Given the description of an element on the screen output the (x, y) to click on. 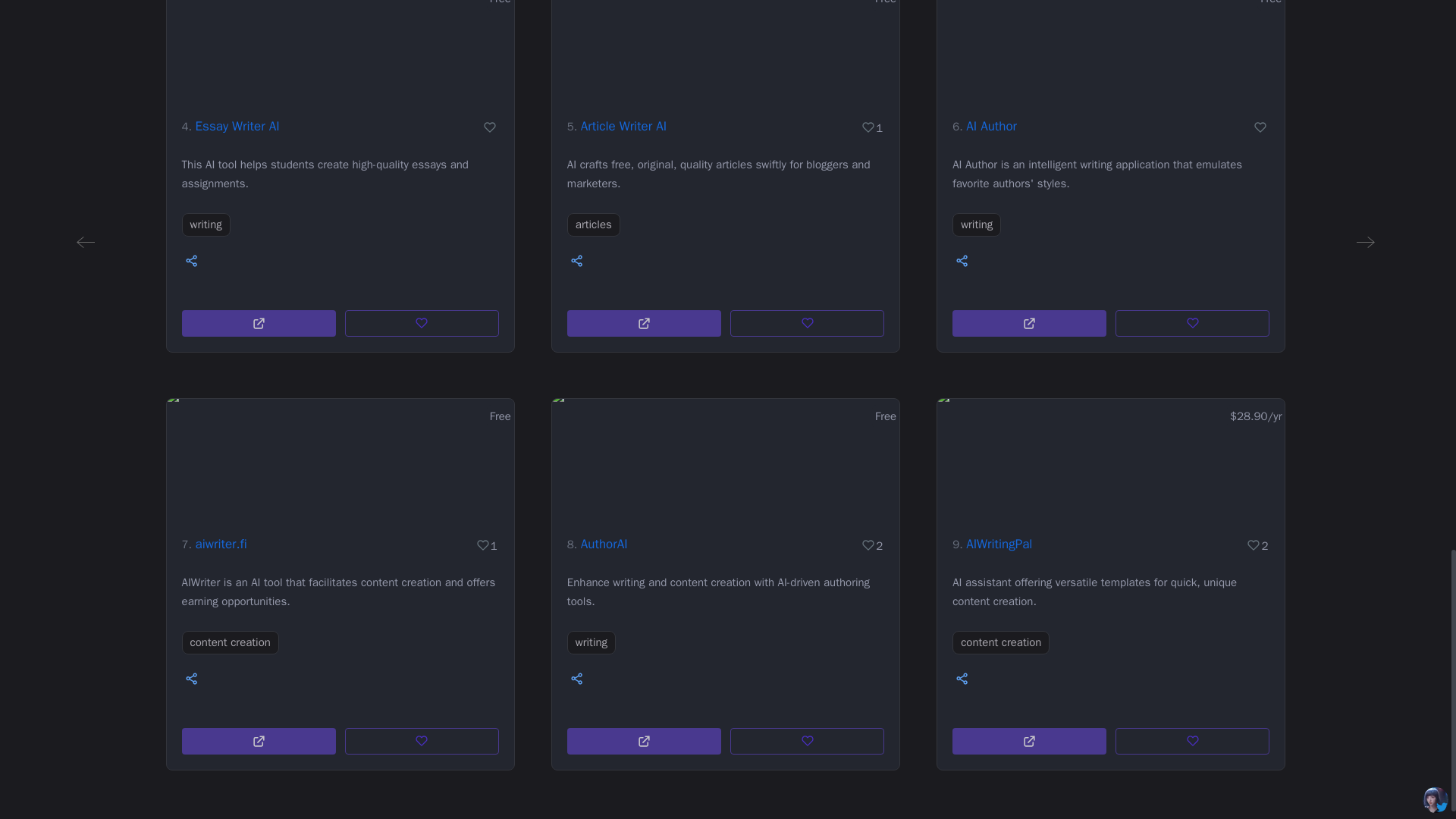
visit AuthorAI (643, 741)
Free (725, 48)
Article Writer AI (623, 125)
visit  AIWritingPal (1029, 741)
Essay Writer AI (237, 125)
visit AI Author (1029, 323)
visit Essay Writer AI (259, 323)
Free (340, 48)
visit Article Writer AI (643, 323)
visit aiwriter.fi (259, 741)
